Given the description of an element on the screen output the (x, y) to click on. 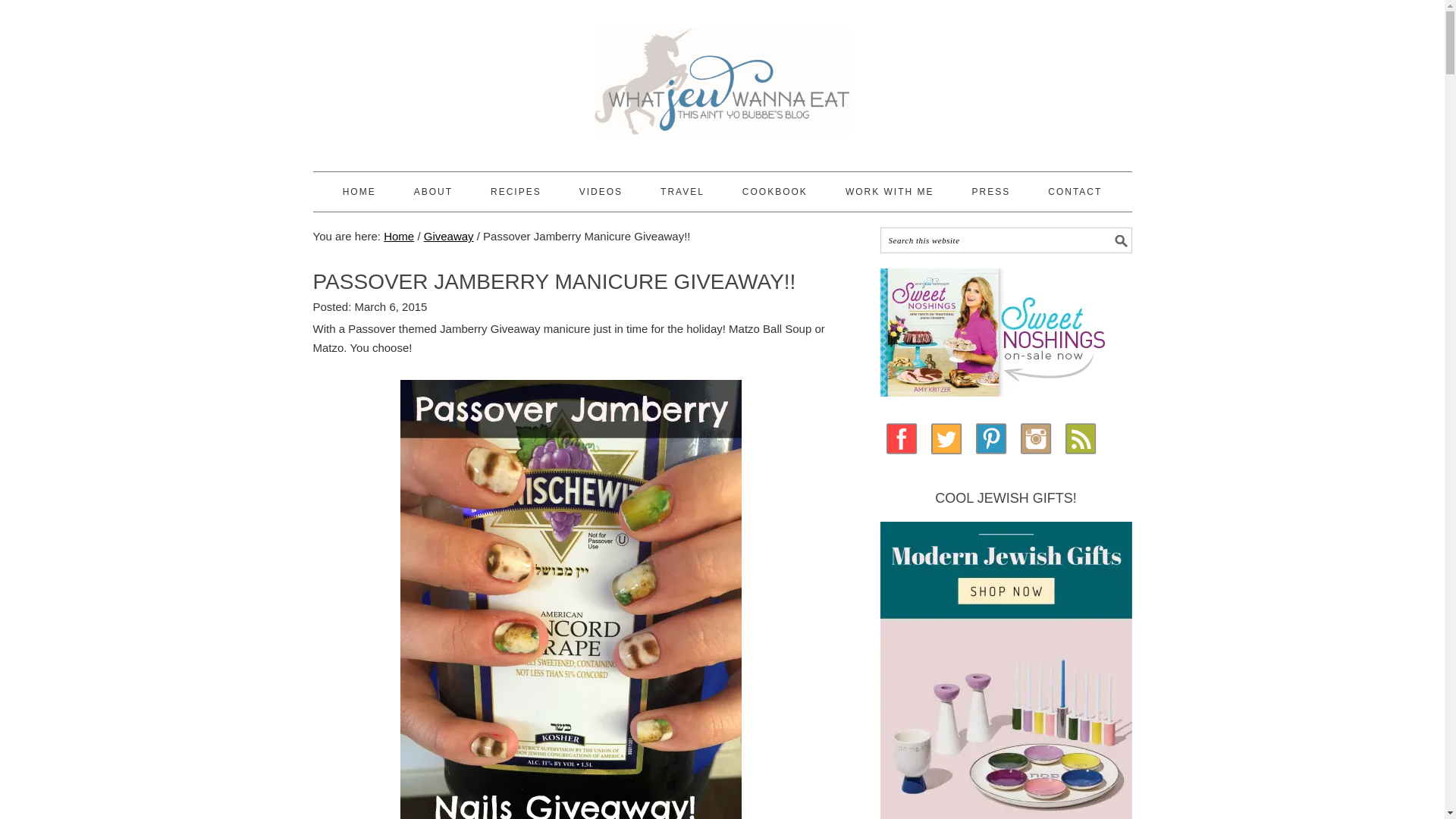
TRAVEL (682, 191)
Home (398, 236)
CONTACT (1075, 191)
Giveaway (448, 236)
COOKBOOK (775, 191)
VIDEOS (601, 191)
PRESS (991, 191)
RECIPES (515, 191)
WORK WITH ME (890, 191)
ABOUT (432, 191)
